Given the description of an element on the screen output the (x, y) to click on. 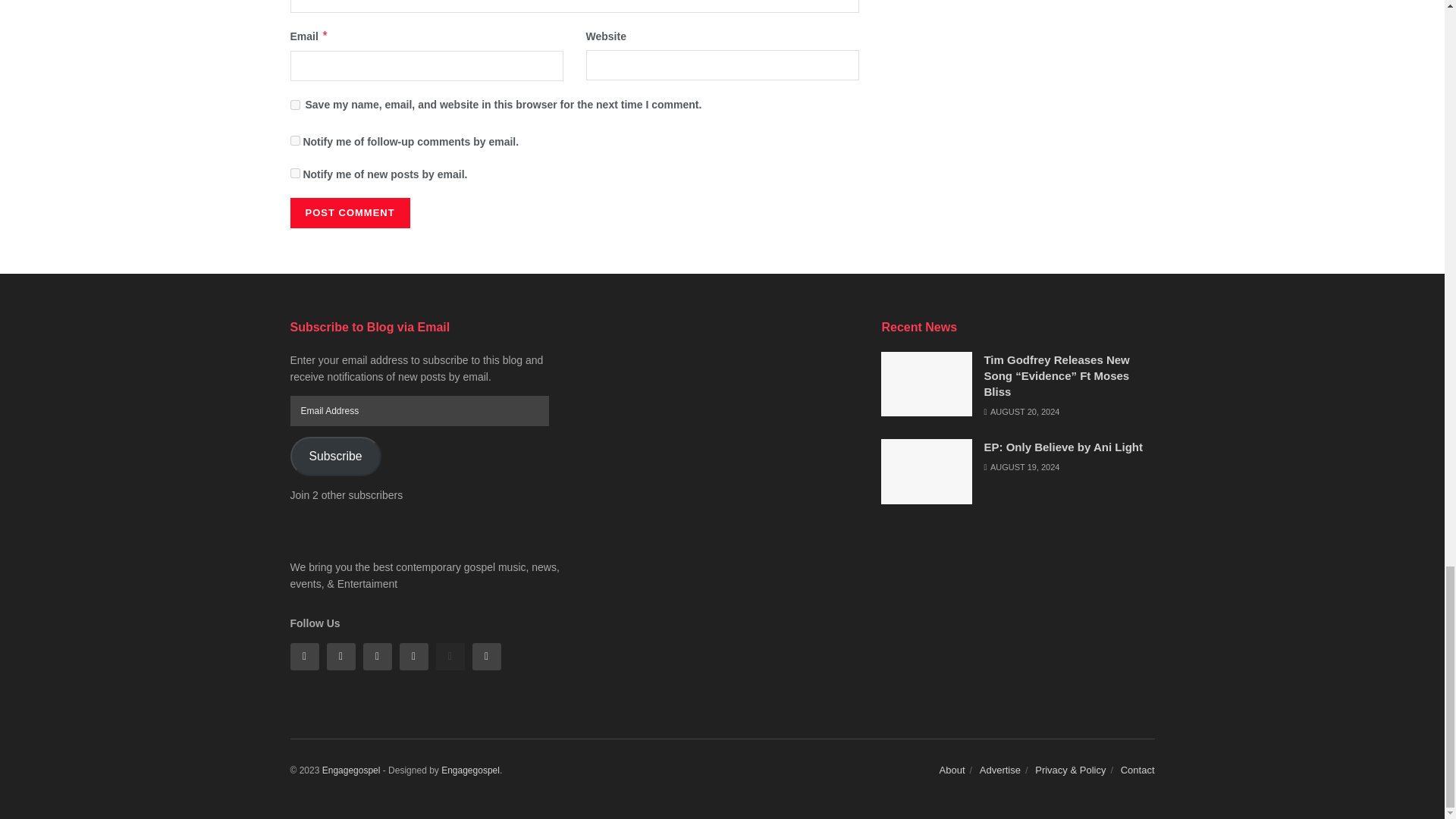
Engagegospel (470, 769)
subscribe (294, 173)
Post Comment (349, 213)
subscribe (294, 140)
EngageGospel (350, 769)
yes (294, 104)
